Given the description of an element on the screen output the (x, y) to click on. 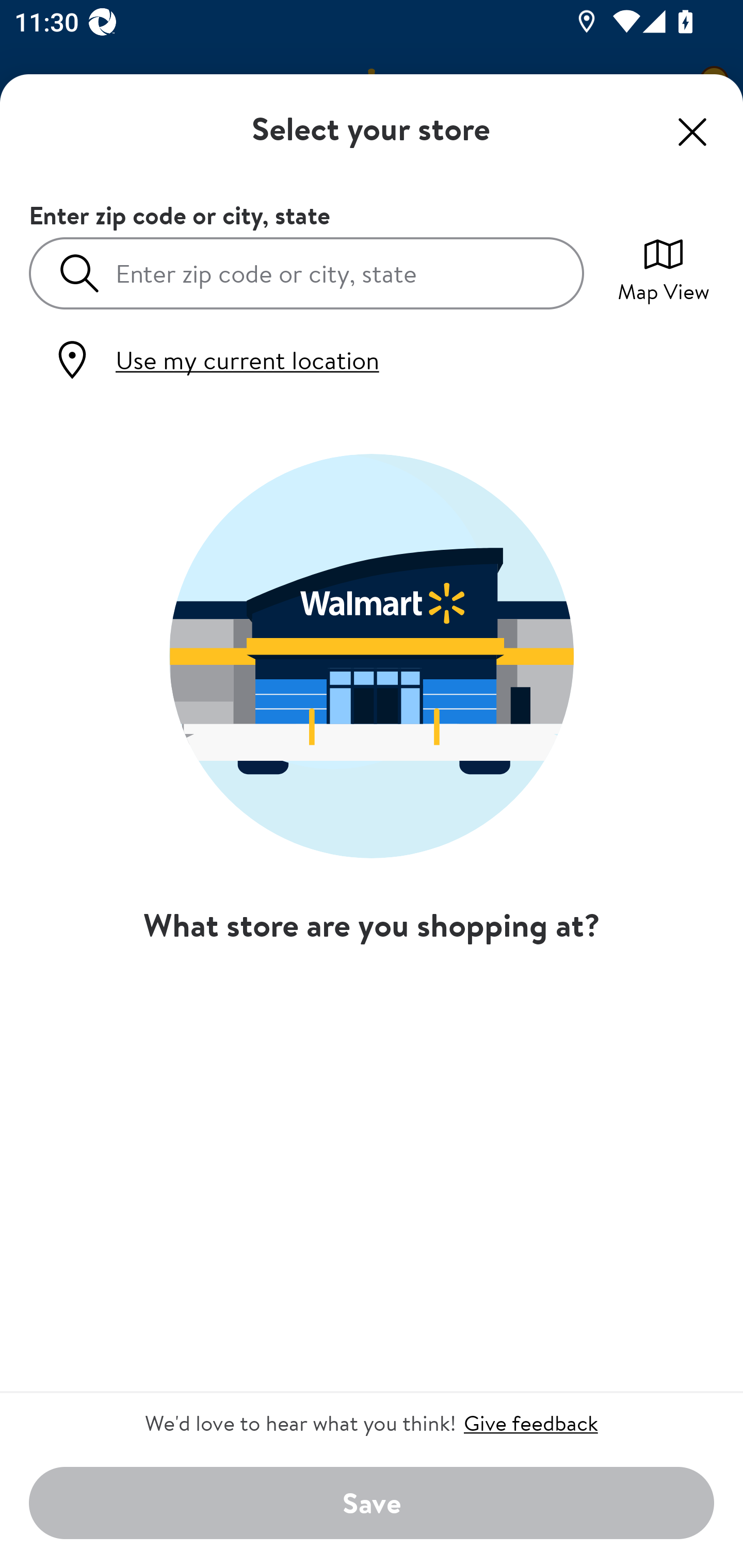
Close (692, 131)
Map View Switch to map view (663, 268)
Enter zip code or city, state (305, 272)
Use my current location (214, 359)
Give feedback (530, 1422)
Save (371, 1503)
